Given the description of an element on the screen output the (x, y) to click on. 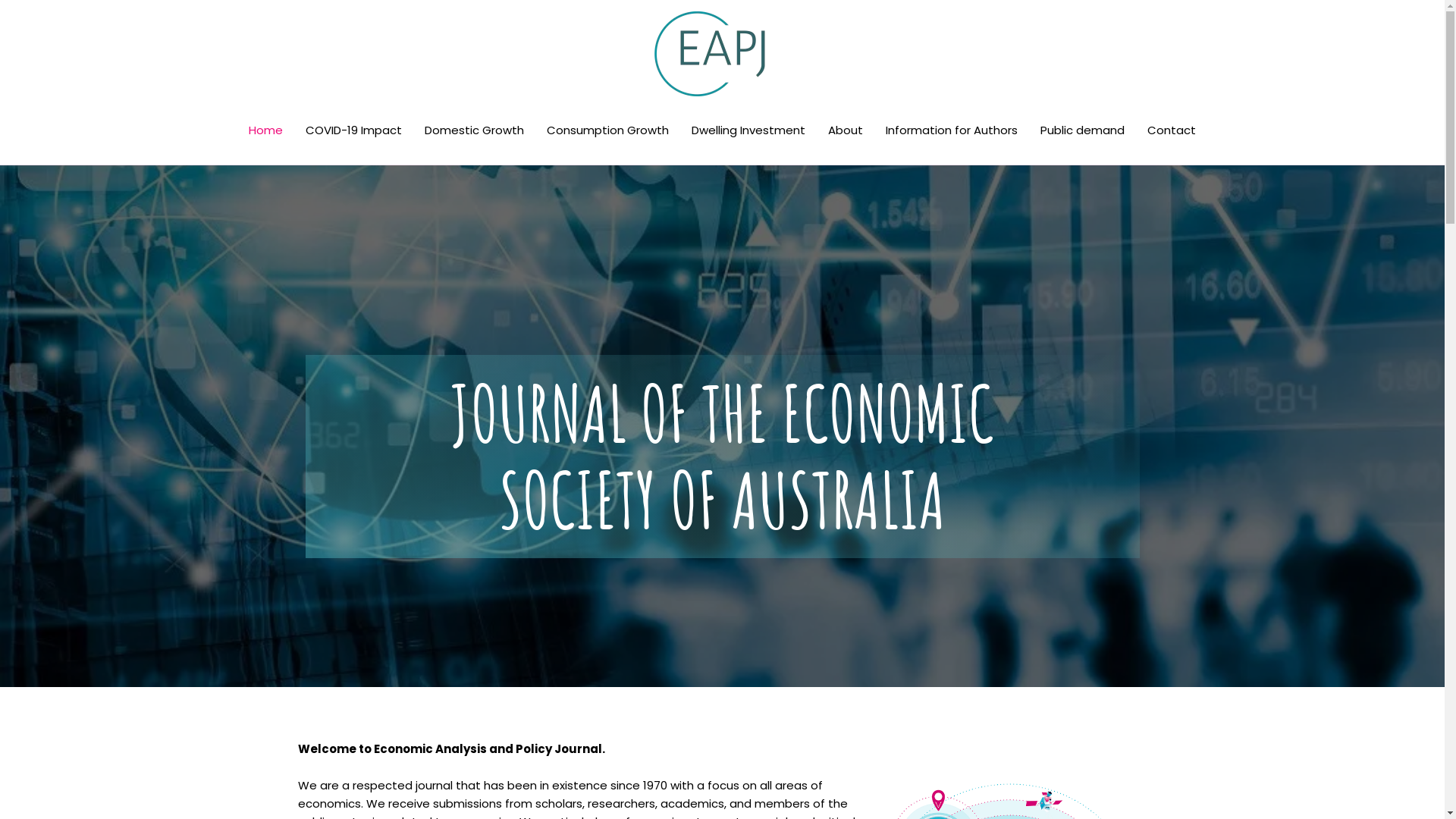
COVID-19 Impact Element type: text (353, 130)
Public demand Element type: text (1082, 130)
Domestic Growth Element type: text (474, 130)
Information for Authors Element type: text (951, 130)
Contact Element type: text (1171, 130)
Home Element type: text (265, 130)
Dwelling Investment Element type: text (748, 130)
About Element type: text (845, 130)
Consumption Growth Element type: text (607, 130)
